Given the description of an element on the screen output the (x, y) to click on. 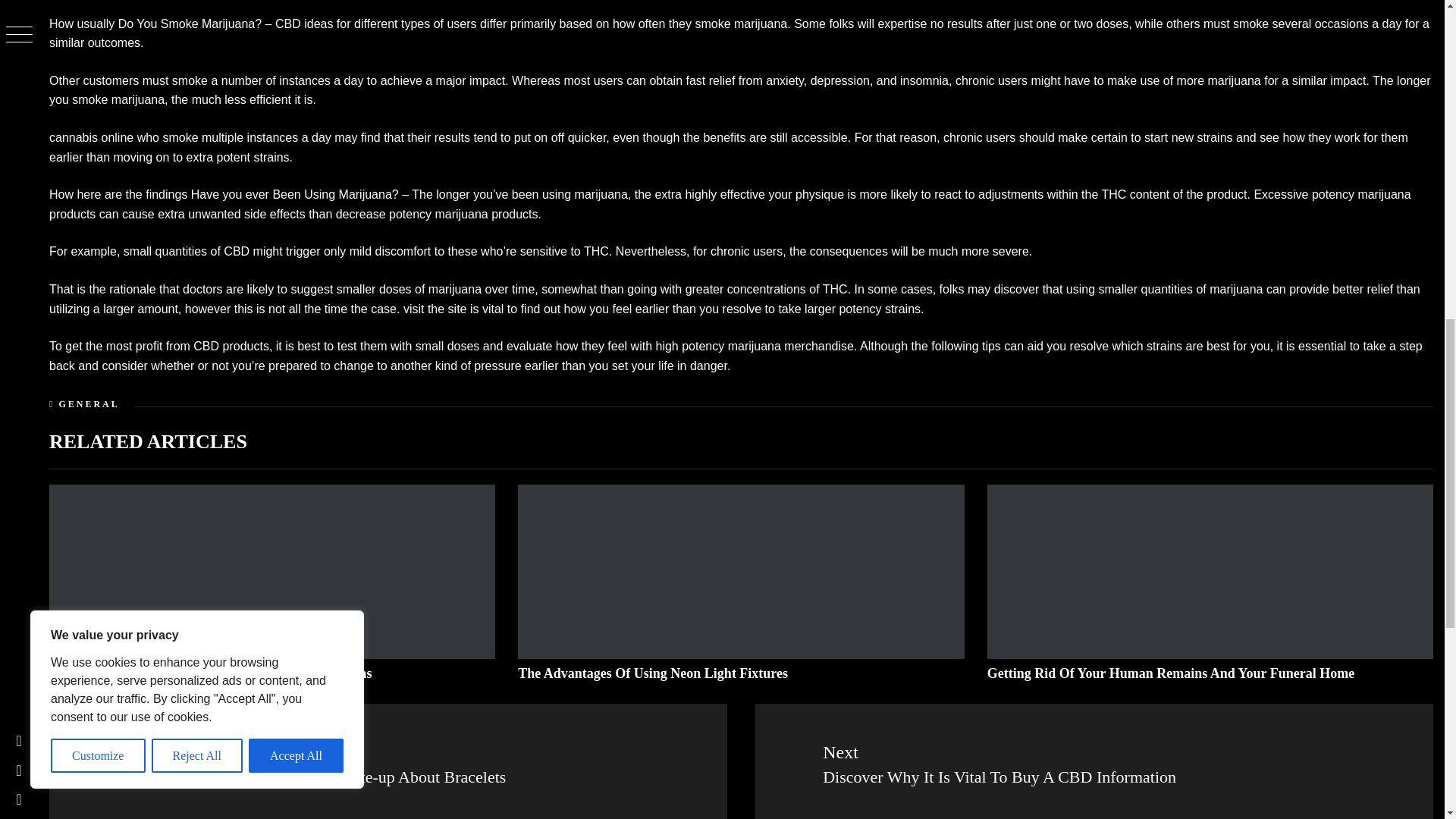
here are the findings (132, 194)
In Terms Of Word press, We Give You The Finest Ideas (210, 672)
GENERAL (88, 403)
cannabis online (91, 137)
visit the site (435, 308)
The Advantages Of Using Neon Light Fixtures (652, 672)
